Given the description of an element on the screen output the (x, y) to click on. 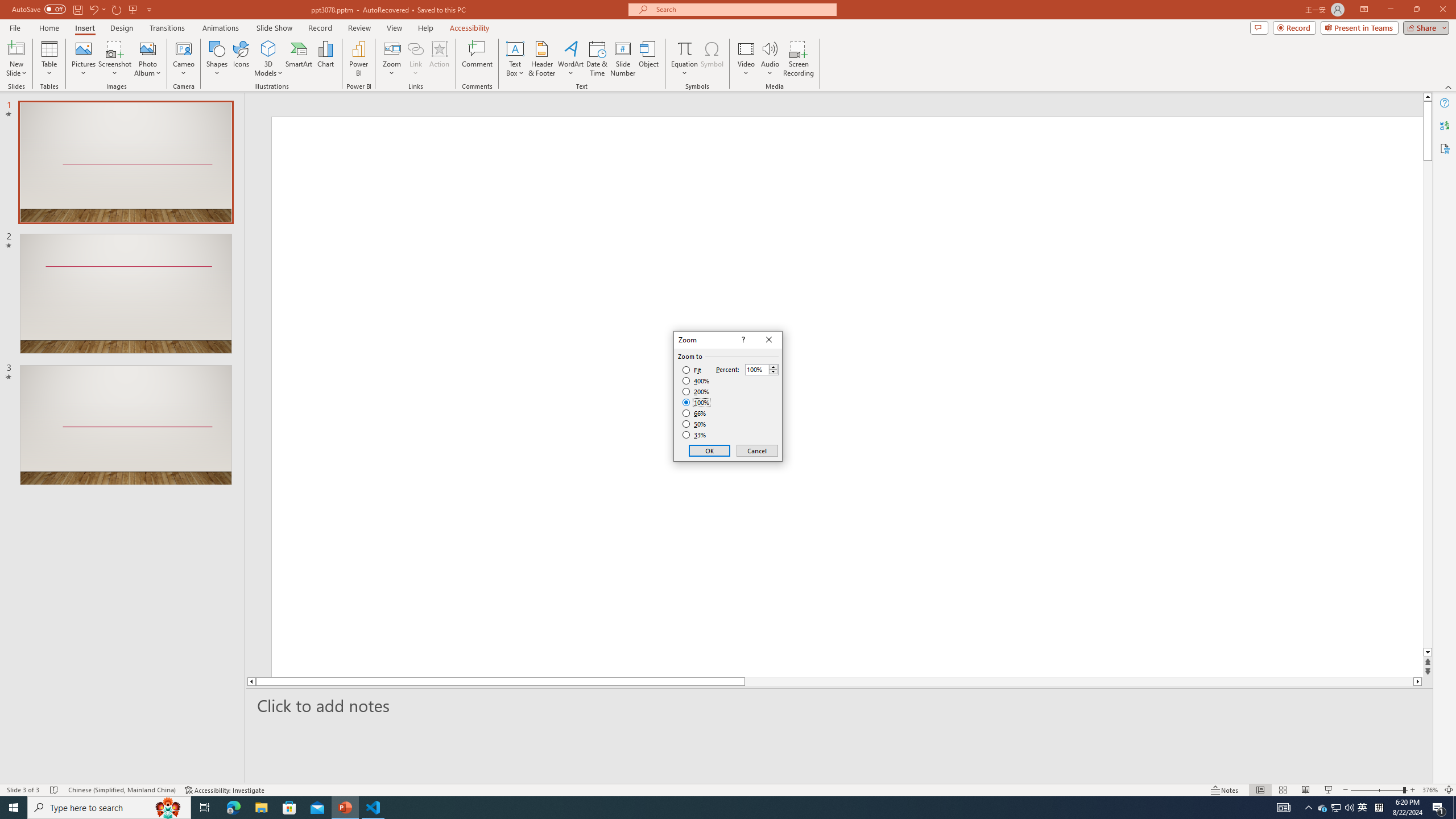
Comment (476, 58)
Zoom 376% (1430, 790)
Percent (756, 369)
Screenshot (114, 58)
Table (49, 58)
WordArt (570, 58)
